Given the description of an element on the screen output the (x, y) to click on. 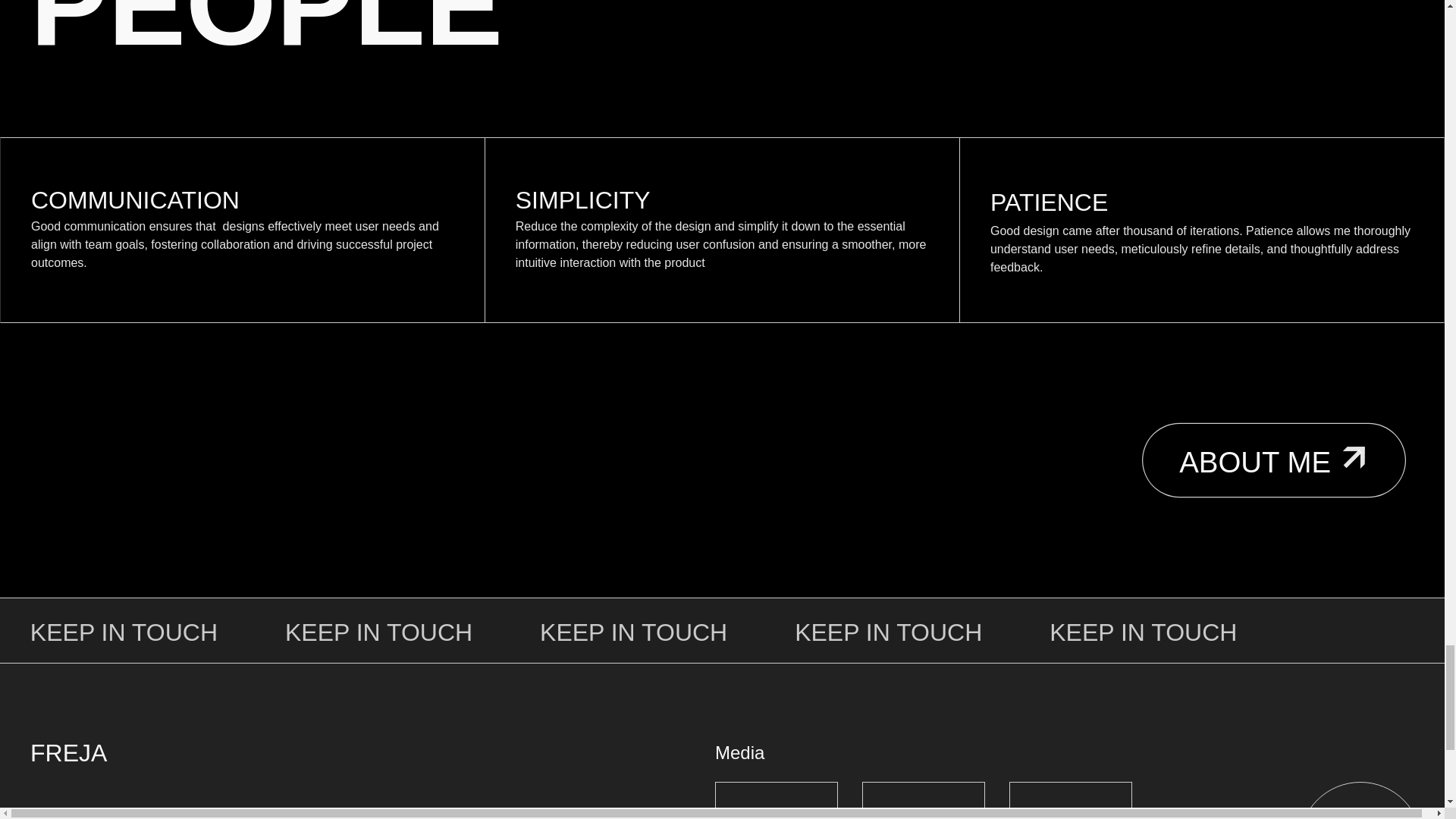
ABOUT ME (1251, 454)
FREJA (68, 752)
